Given the description of an element on the screen output the (x, y) to click on. 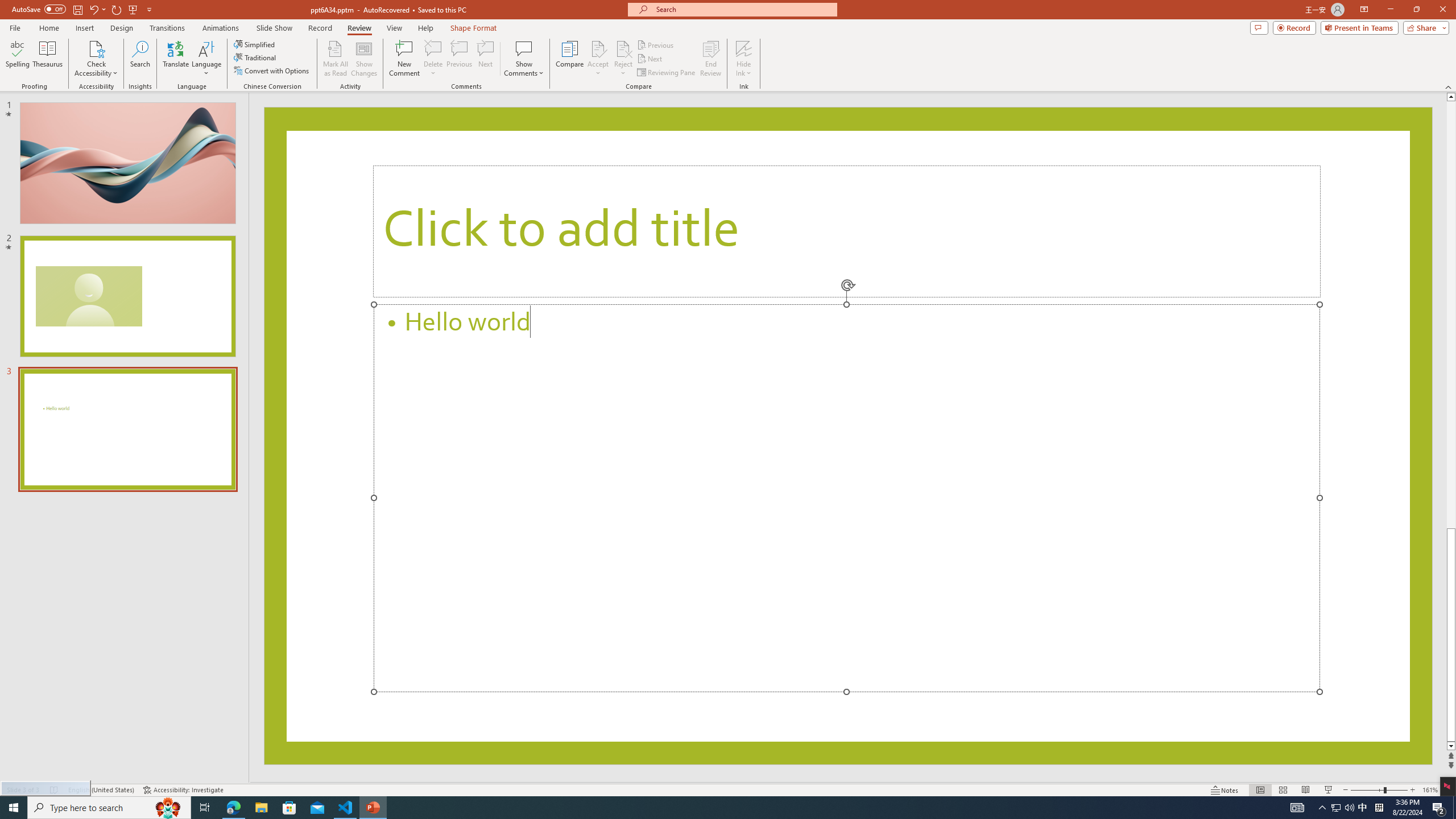
Accept Change (598, 48)
Shape Format (473, 28)
Restore Down (1416, 9)
Reject Change (622, 48)
Class: MsoCommandBar (728, 789)
Delete (432, 58)
Spelling... (17, 58)
Slide Sorter (1282, 790)
Design (122, 28)
Show Comments (524, 58)
Customize Quick Access Toolbar (149, 9)
Next (649, 58)
Spell Check No Errors (54, 790)
From Beginning (133, 9)
Hide Ink (743, 48)
